Given the description of an element on the screen output the (x, y) to click on. 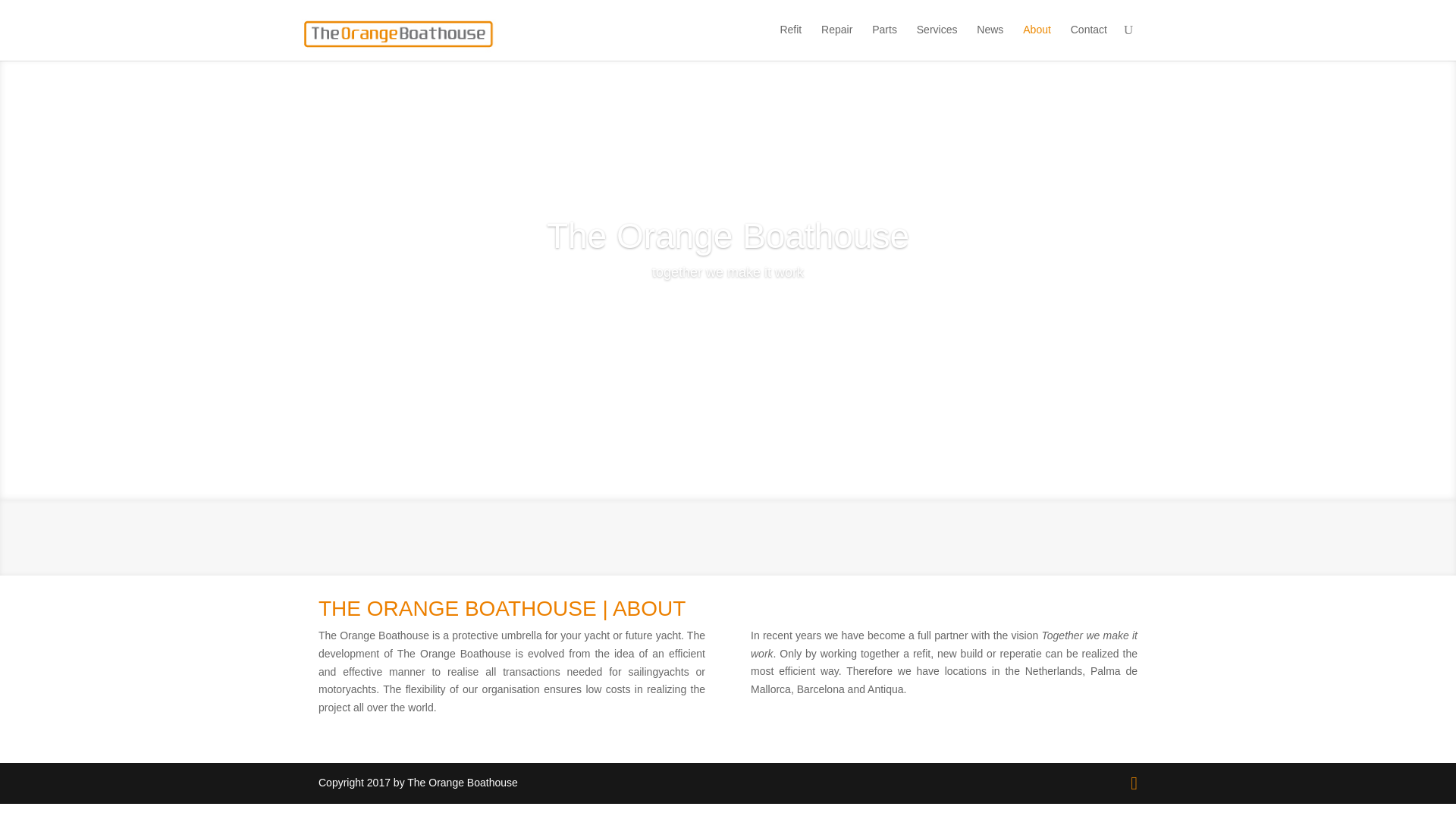
Services (937, 40)
Contact (1088, 40)
Services (937, 40)
